Given the description of an element on the screen output the (x, y) to click on. 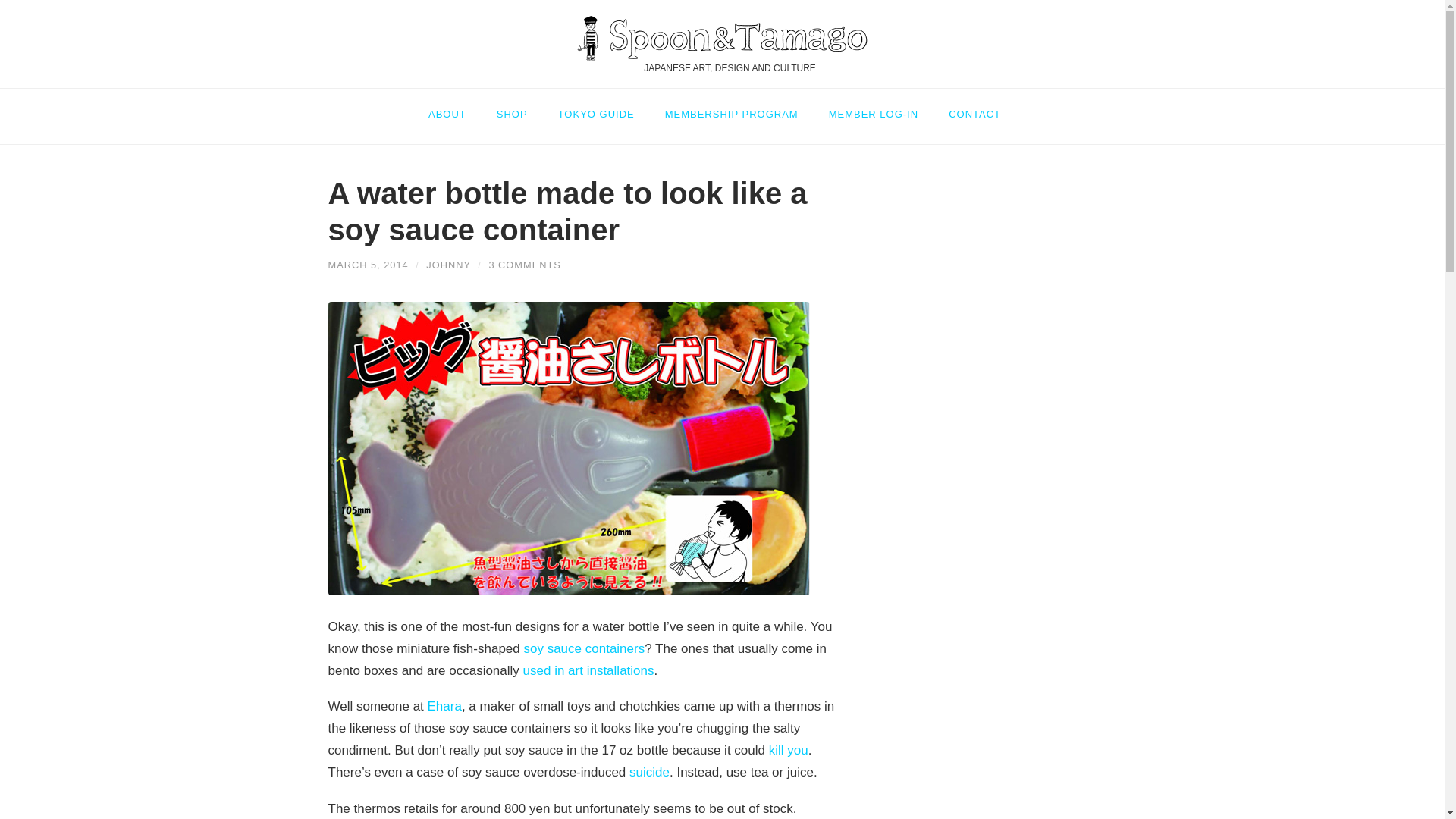
ABOUT (454, 107)
A water bottle made to look like a soy sauce container (367, 265)
Posts by Johnny (448, 265)
MEMBER LOG-IN (873, 107)
CONTACT (974, 107)
Ehara (444, 706)
JOHNNY (448, 265)
3 COMMENTS (523, 265)
TOKYO GUIDE (596, 107)
MARCH 5, 2014 (367, 265)
